Given the description of an element on the screen output the (x, y) to click on. 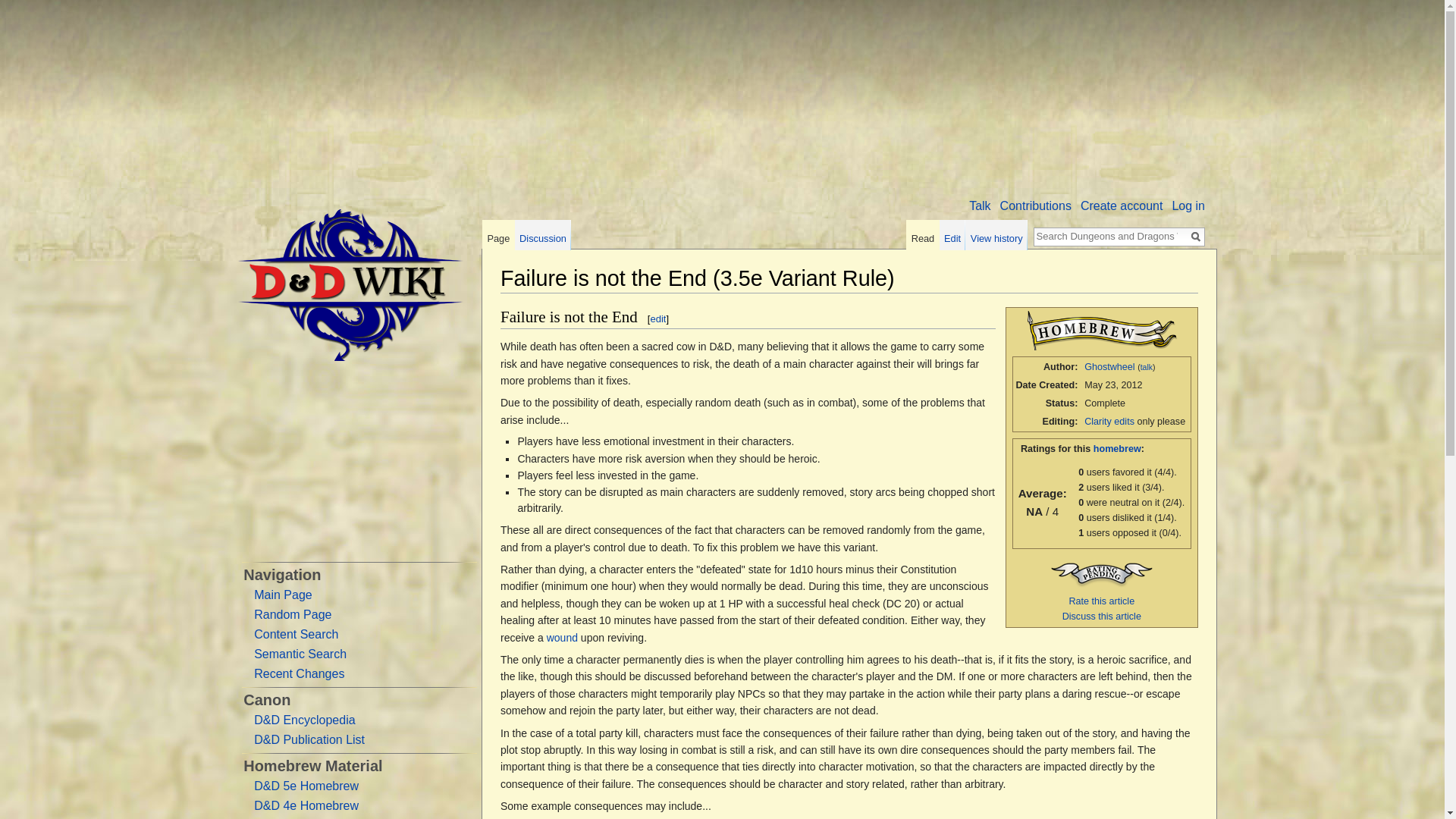
edit (657, 318)
Edit section: Failure is not the End (657, 318)
wound (562, 637)
